Given the description of an element on the screen output the (x, y) to click on. 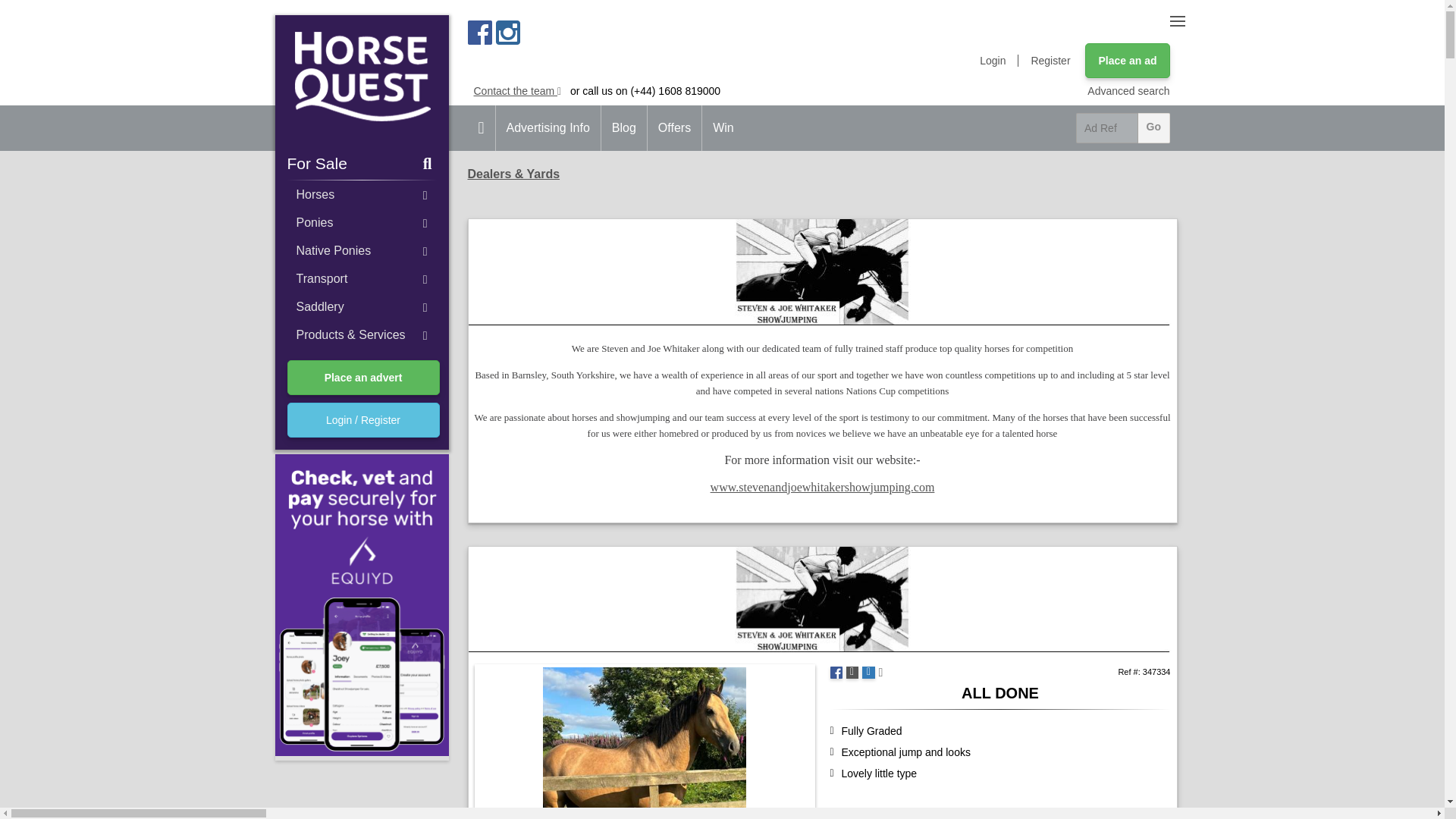
Follow us on Facebook (479, 32)
Share on Facebook (835, 672)
Print (852, 672)
Follow us on Instagram (507, 32)
Horses (360, 194)
Email a Friend (868, 672)
